Given the description of an element on the screen output the (x, y) to click on. 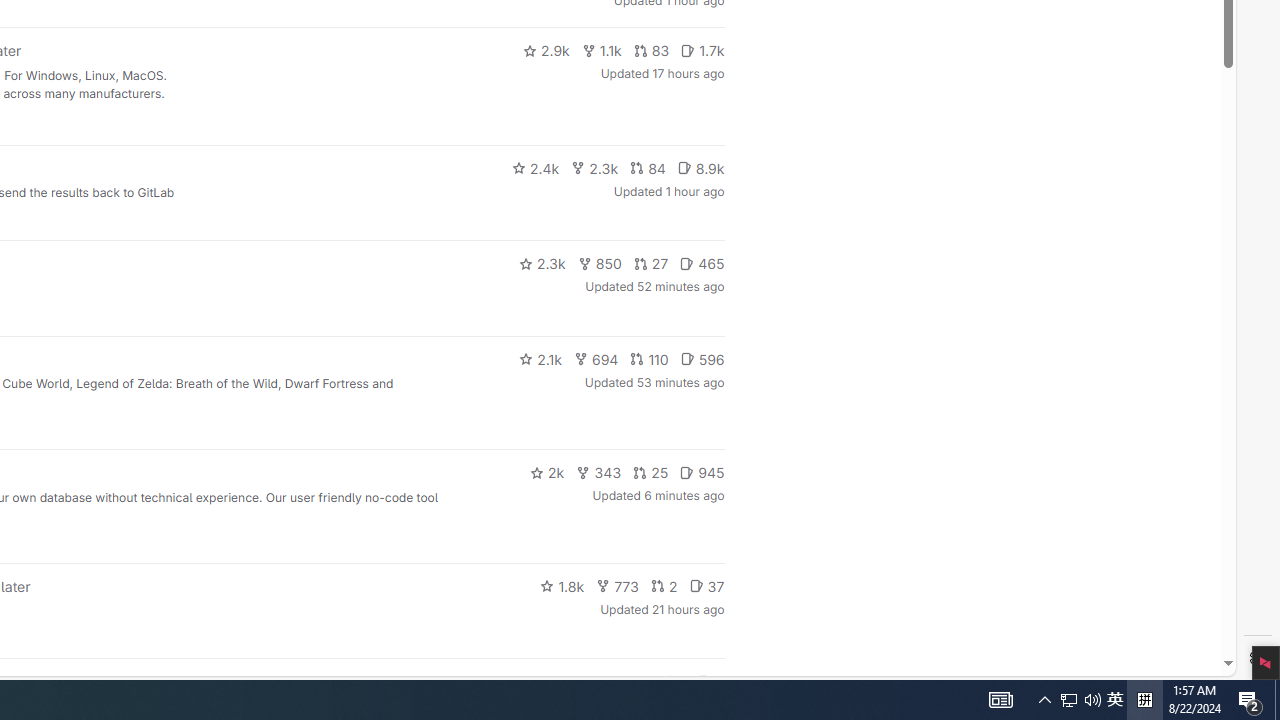
850 (599, 263)
1.7k (702, 50)
773 (618, 585)
596 (701, 358)
1.1k (601, 50)
25 (651, 472)
84 (647, 167)
1.4k (573, 681)
1.8k (562, 585)
2.4k (535, 167)
27 (651, 263)
465 (701, 263)
6 (710, 681)
143 (629, 681)
8.9k (700, 167)
